Given the description of an element on the screen output the (x, y) to click on. 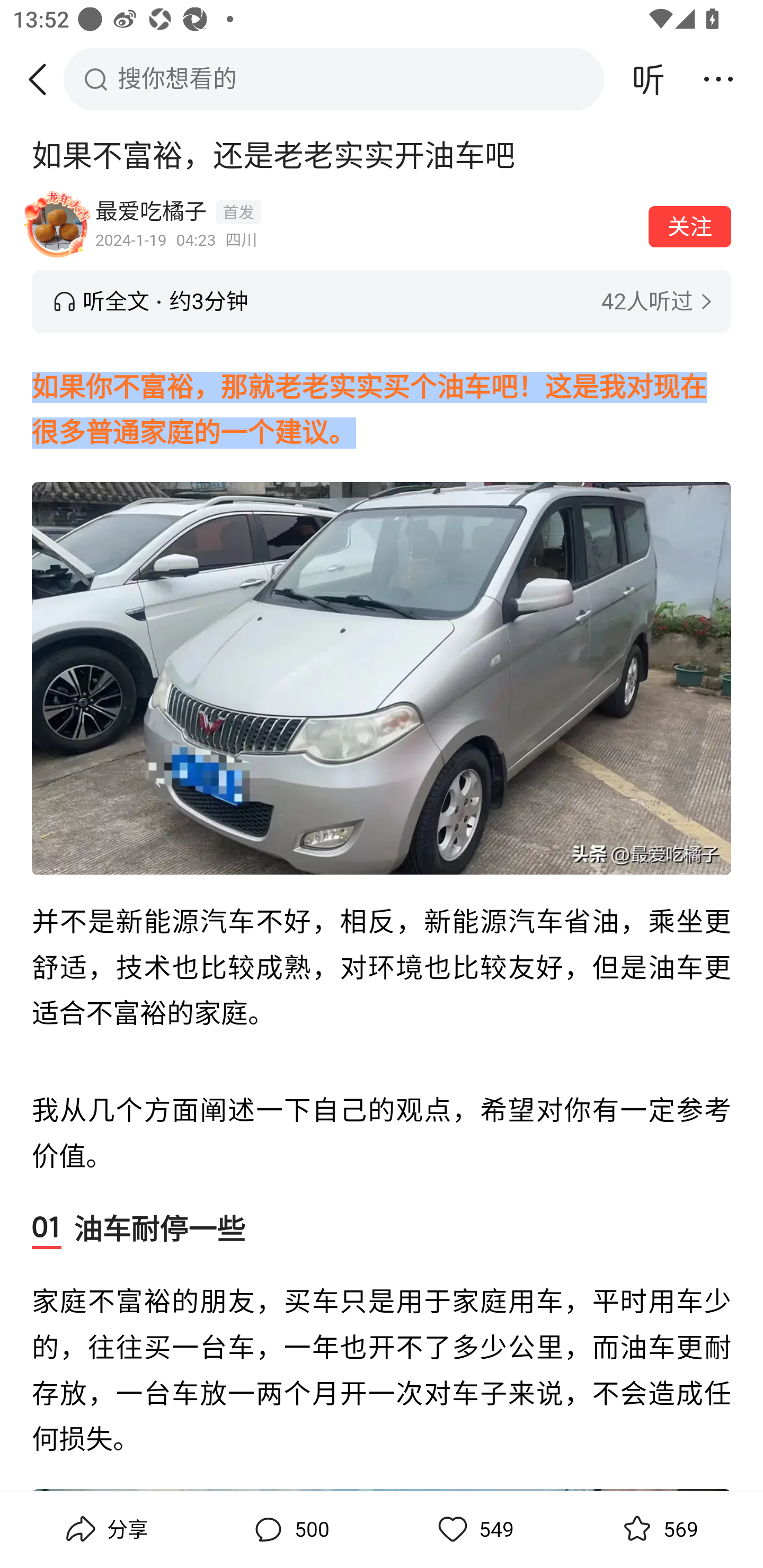
返回 (44, 78)
听头条 (648, 78)
更多操作 (718, 78)
搜你想看的 搜索框，搜你想看的 (333, 79)
作者：最爱吃橘子，2024-1-19 04:23发布，四川，首发 (365, 224)
关注作者 (689, 226)
听全文 约3分钟 42人听过 (381, 300)
图片，点击识别内容 (381, 677)
分享 (104, 1529)
评论,500 500 (288, 1529)
收藏,569 569 (658, 1529)
